Given the description of an element on the screen output the (x, y) to click on. 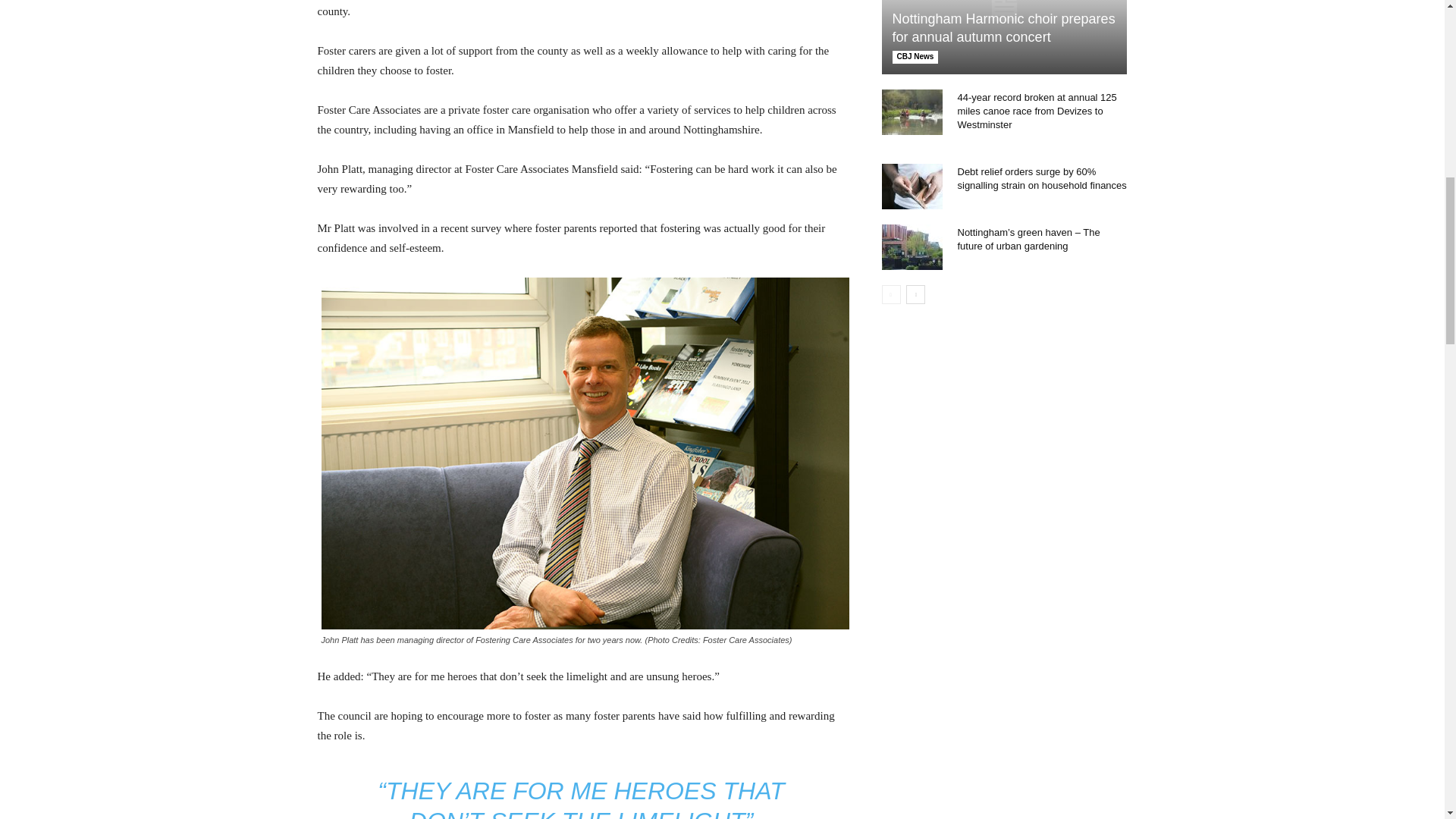
Nottingham Harmonic choir prepares for annual autumn concert (1003, 28)
Nottingham Harmonic choir prepares for annual autumn concert (1003, 37)
